Given the description of an element on the screen output the (x, y) to click on. 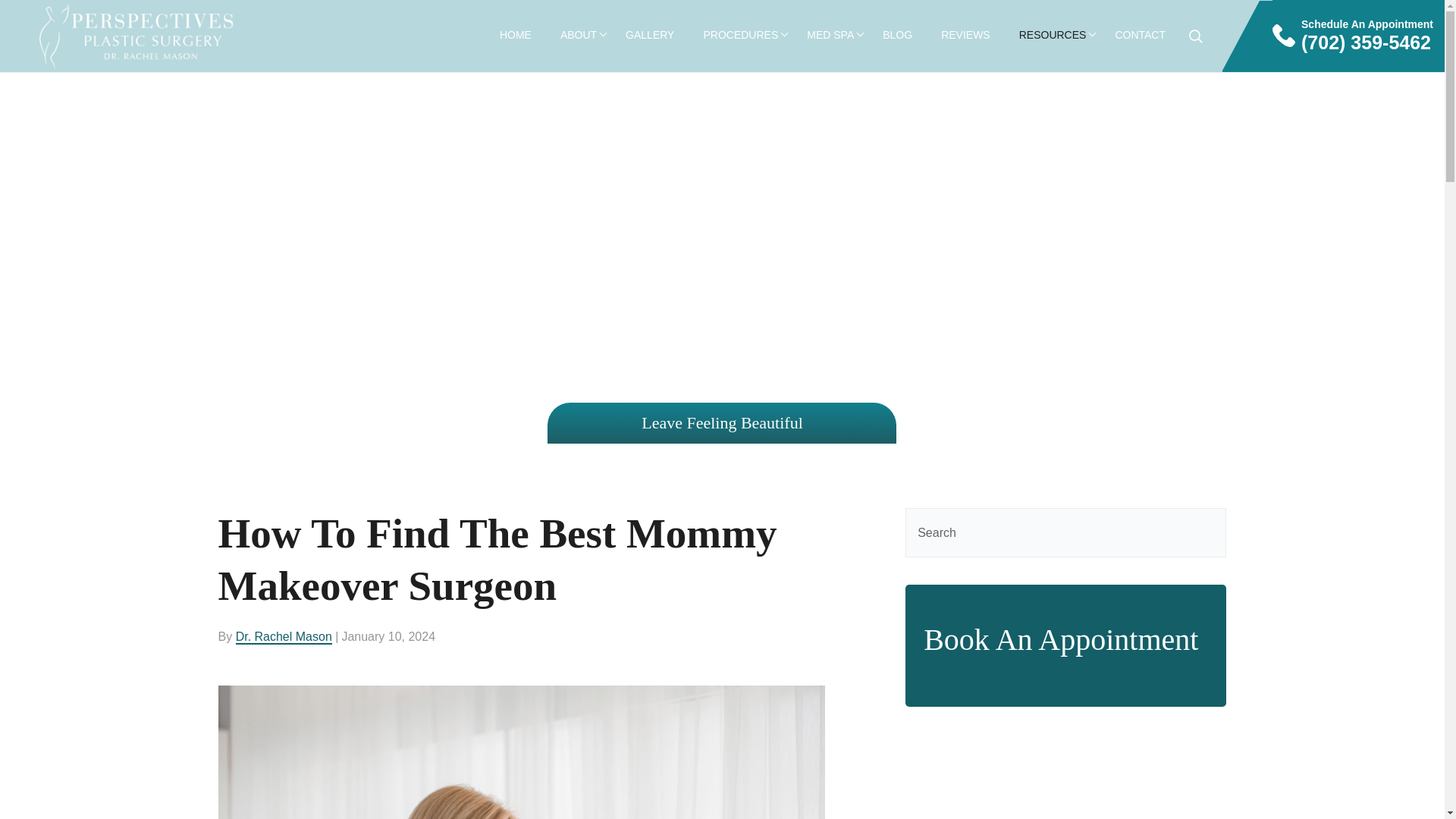
PROCEDURES (739, 35)
RESOURCES (1052, 35)
How To Find The Best Mommy Makeover Surgeon (521, 752)
